Given the description of an element on the screen output the (x, y) to click on. 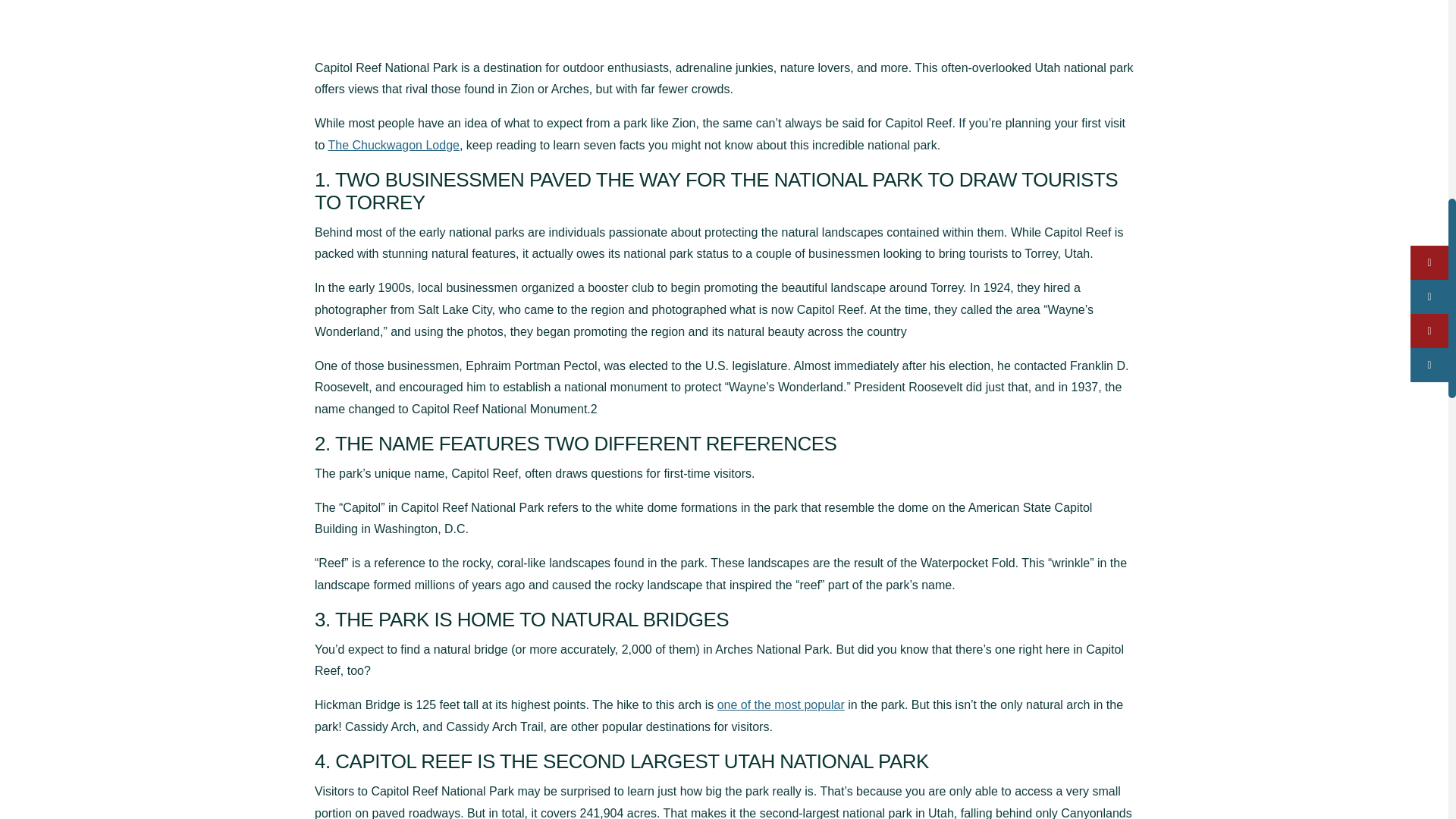
one of the most popular (780, 704)
The Chuckwagon Lodge (392, 144)
